Given the description of an element on the screen output the (x, y) to click on. 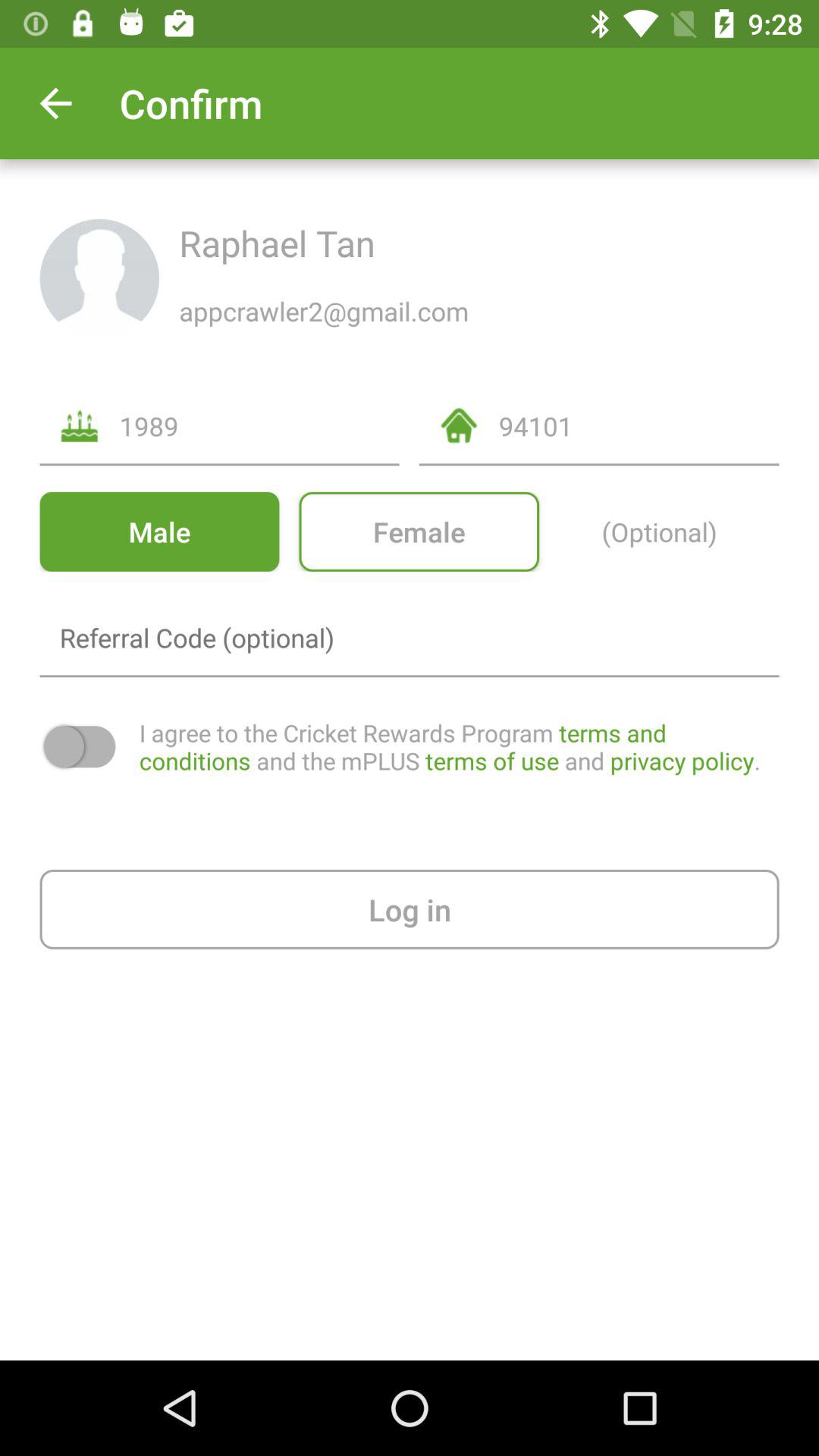
choose the item below the appcrawler2@gmail.com icon (638, 425)
